Given the description of an element on the screen output the (x, y) to click on. 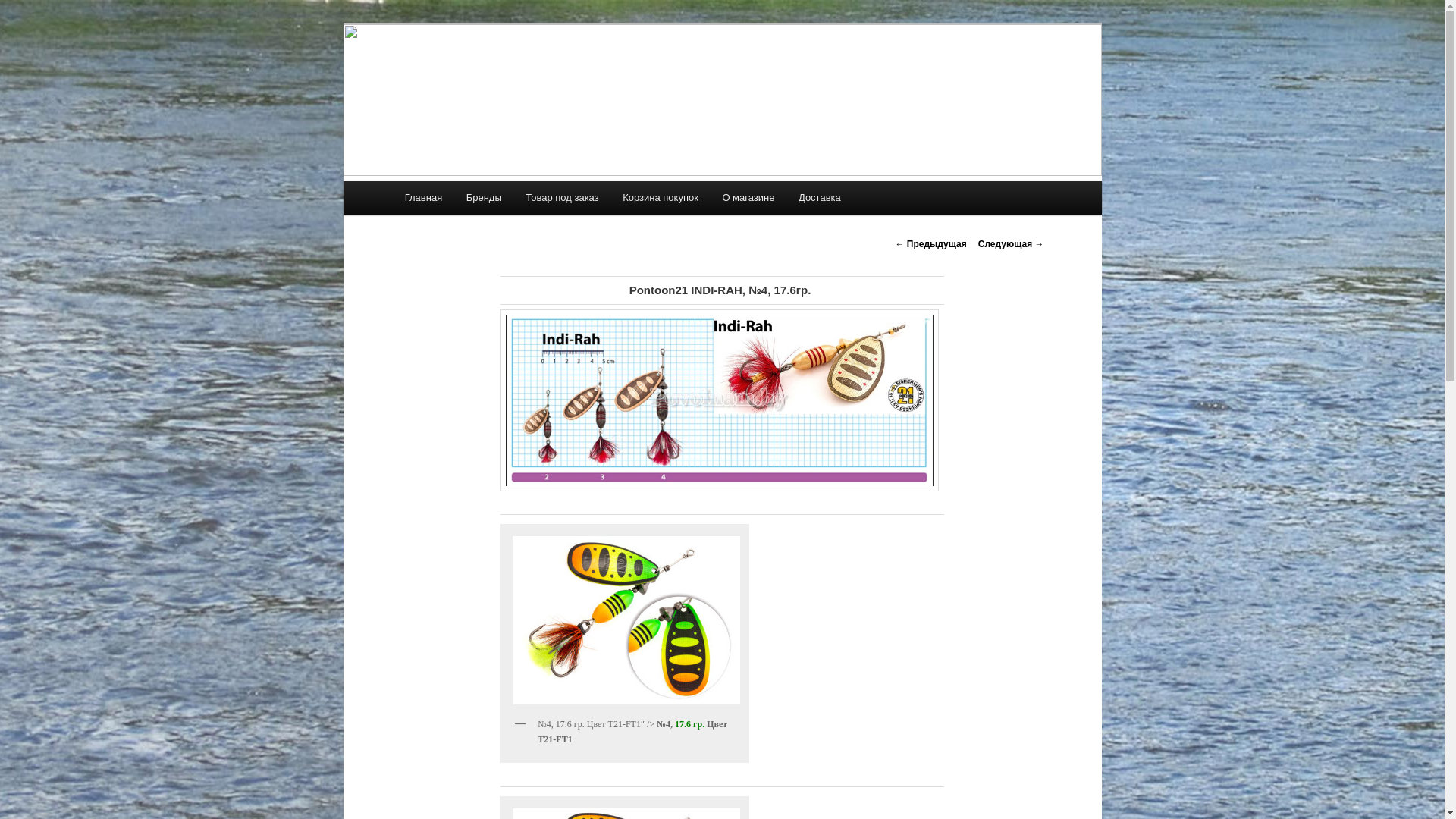
POVOLNAM.BY Element type: text (484, 78)
"<strong Element type: hover (626, 619)
"<strong Element type: hover (624, 619)
